Given the description of an element on the screen output the (x, y) to click on. 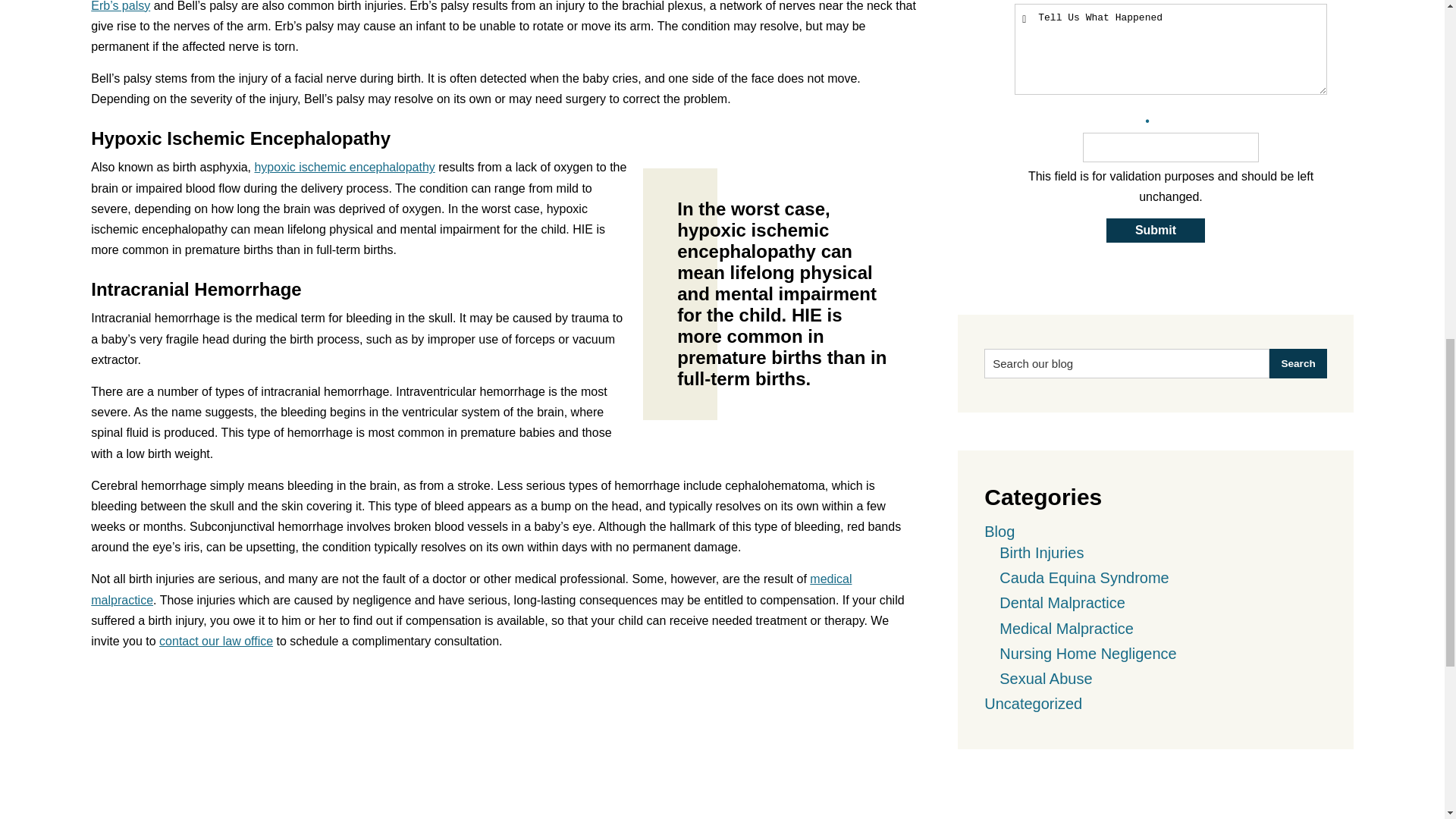
Search our blog (1126, 363)
Search our blog (1126, 363)
Search (1297, 363)
Search (1297, 363)
